Given the description of an element on the screen output the (x, y) to click on. 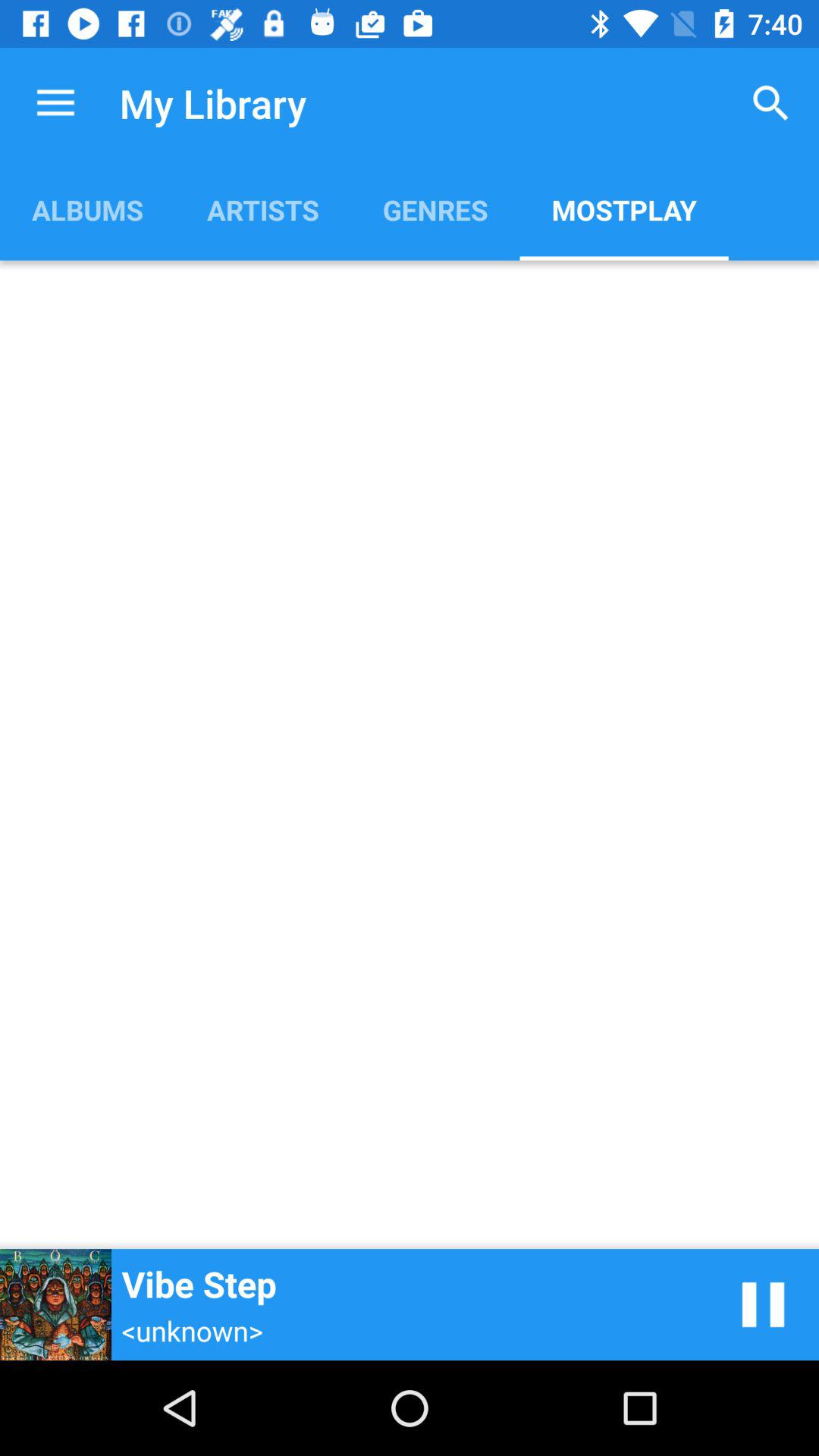
launch the icon to the left of mostplay (434, 209)
